Given the description of an element on the screen output the (x, y) to click on. 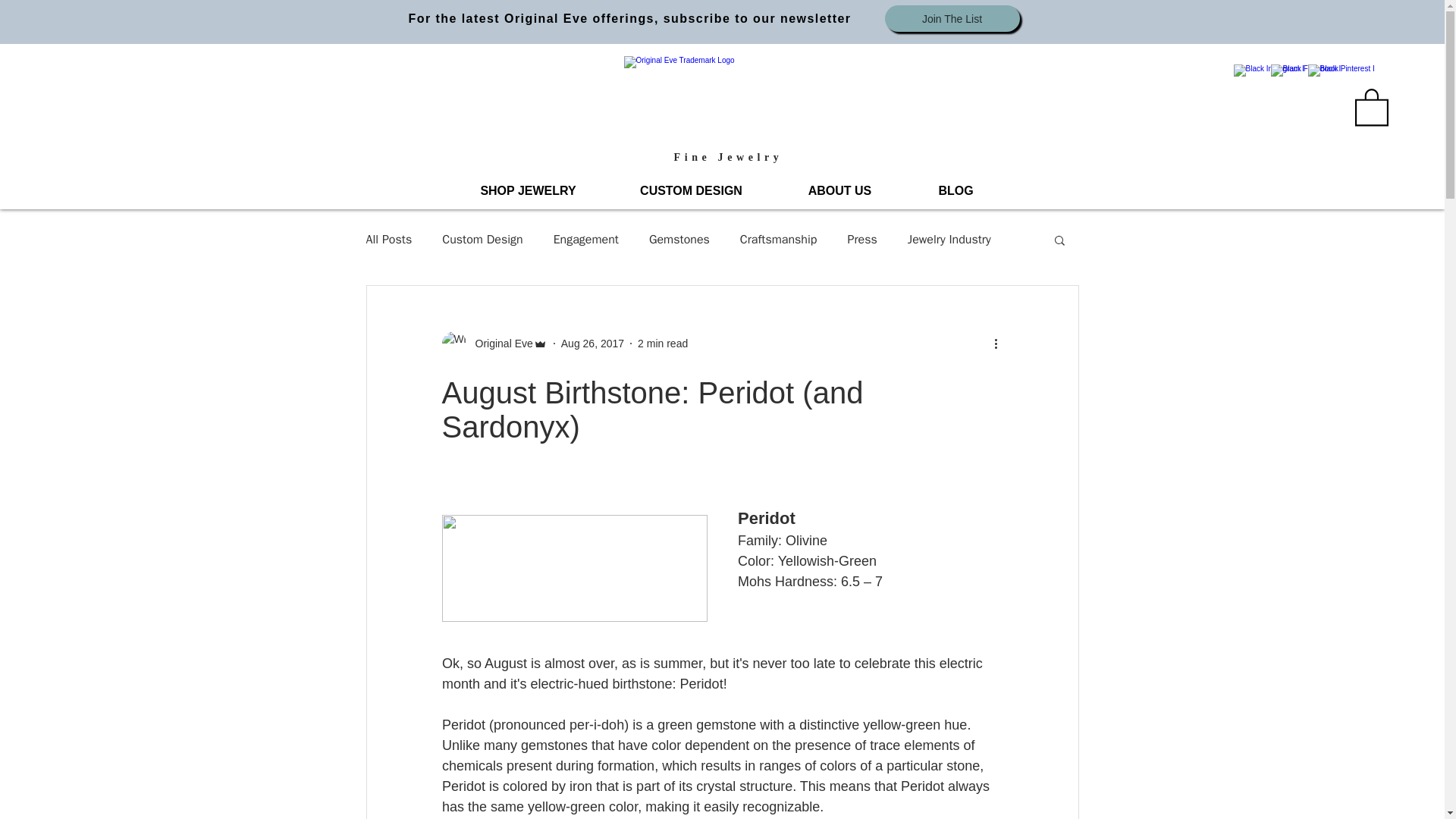
Craftsmanship (777, 239)
Original Eve Trademarked Logo Jewelry Deign Company (718, 100)
Original Eve (498, 343)
Press (861, 239)
Join The List (951, 17)
Engagement (585, 239)
Aug 26, 2017 (592, 343)
Gemstones (679, 239)
CUSTOM DESIGN (690, 190)
BLOG (955, 190)
